Given the description of an element on the screen output the (x, y) to click on. 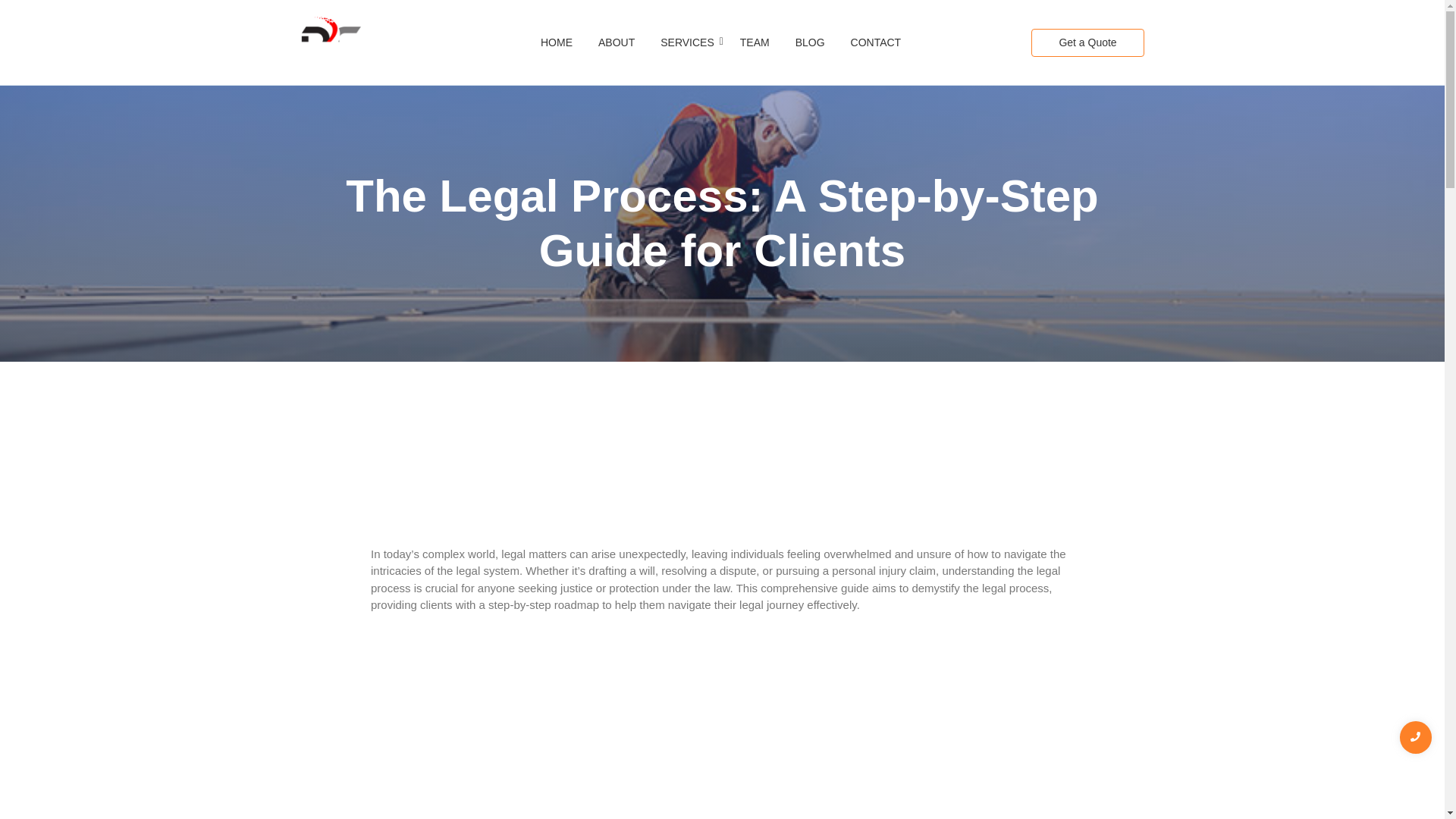
Advertisement (484, 719)
HOME (556, 41)
ABOUT (616, 41)
Advertisement (721, 500)
Get a Quote (1086, 42)
BLOG (809, 41)
TEAM (754, 41)
CONTACT (876, 41)
SERVICES (687, 41)
